Given the description of an element on the screen output the (x, y) to click on. 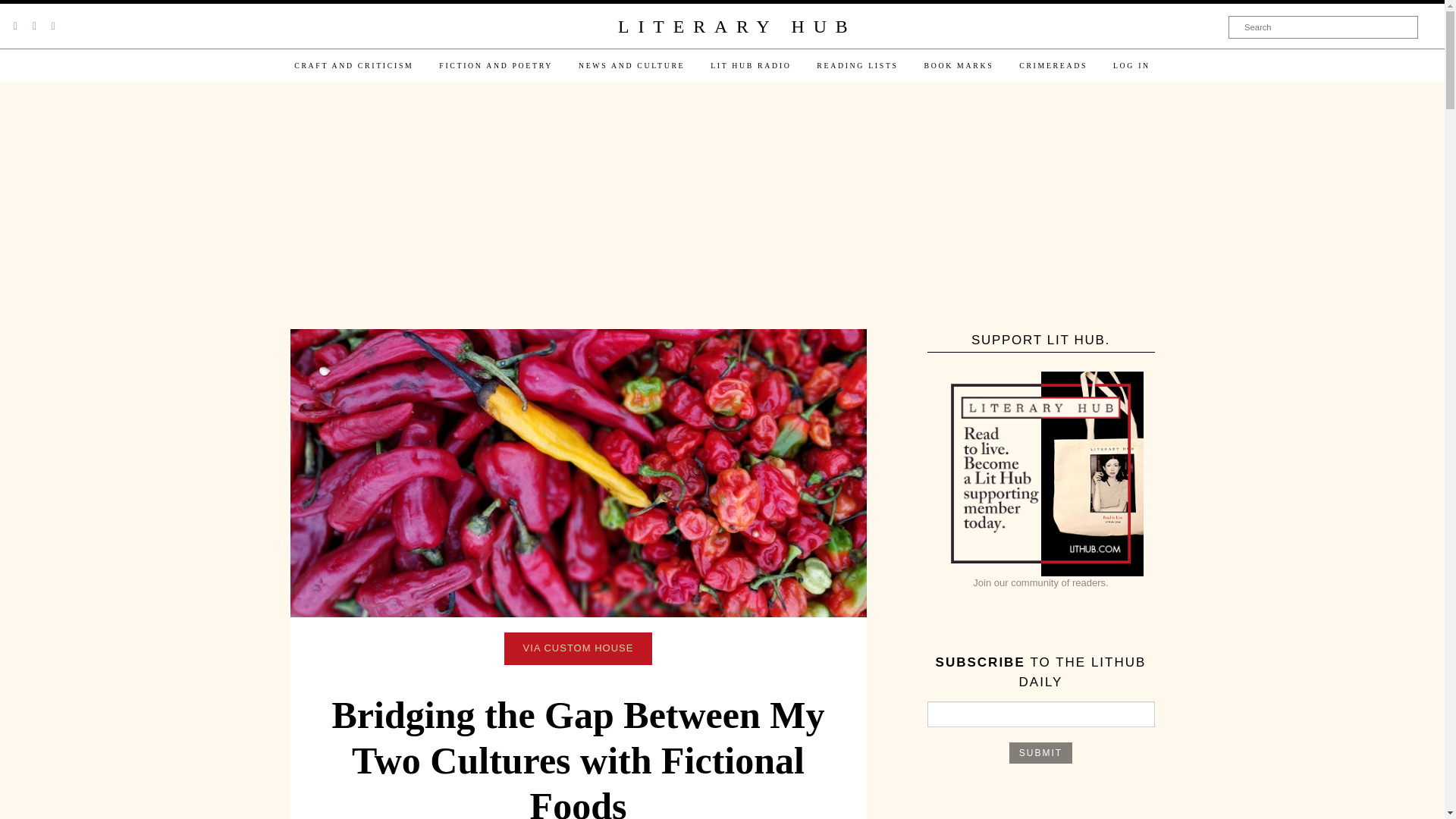
CRAFT AND CRITICISM (353, 65)
FICTION AND POETRY (496, 65)
NEWS AND CULTURE (631, 65)
LITERARY HUB (736, 26)
Search (1323, 26)
